Given the description of an element on the screen output the (x, y) to click on. 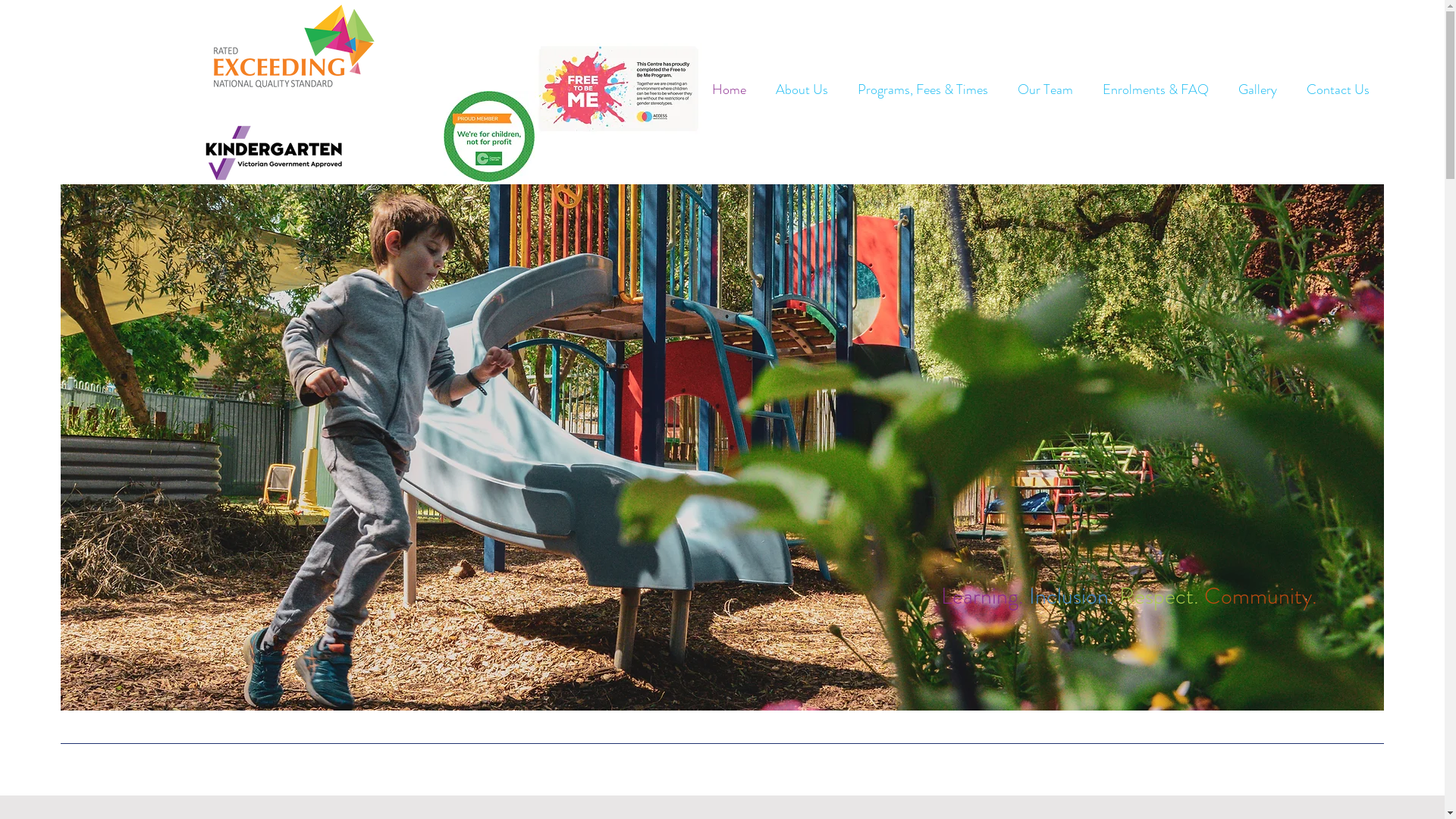
kinder tick.png Element type: hover (275, 152)
Gallery Element type: text (1254, 89)
CCC_Window Sticker_2020_Final.jpg Element type: hover (488, 136)
Programs, Fees & Times Element type: text (919, 89)
Contact Us Element type: text (1334, 89)
Home Element type: text (725, 89)
Our Team Element type: text (1041, 89)
F2BM_Logo_V2.jpg Element type: hover (618, 88)
Enrolments & FAQ Element type: text (1152, 89)
About Us Element type: text (798, 89)
